Given the description of an element on the screen output the (x, y) to click on. 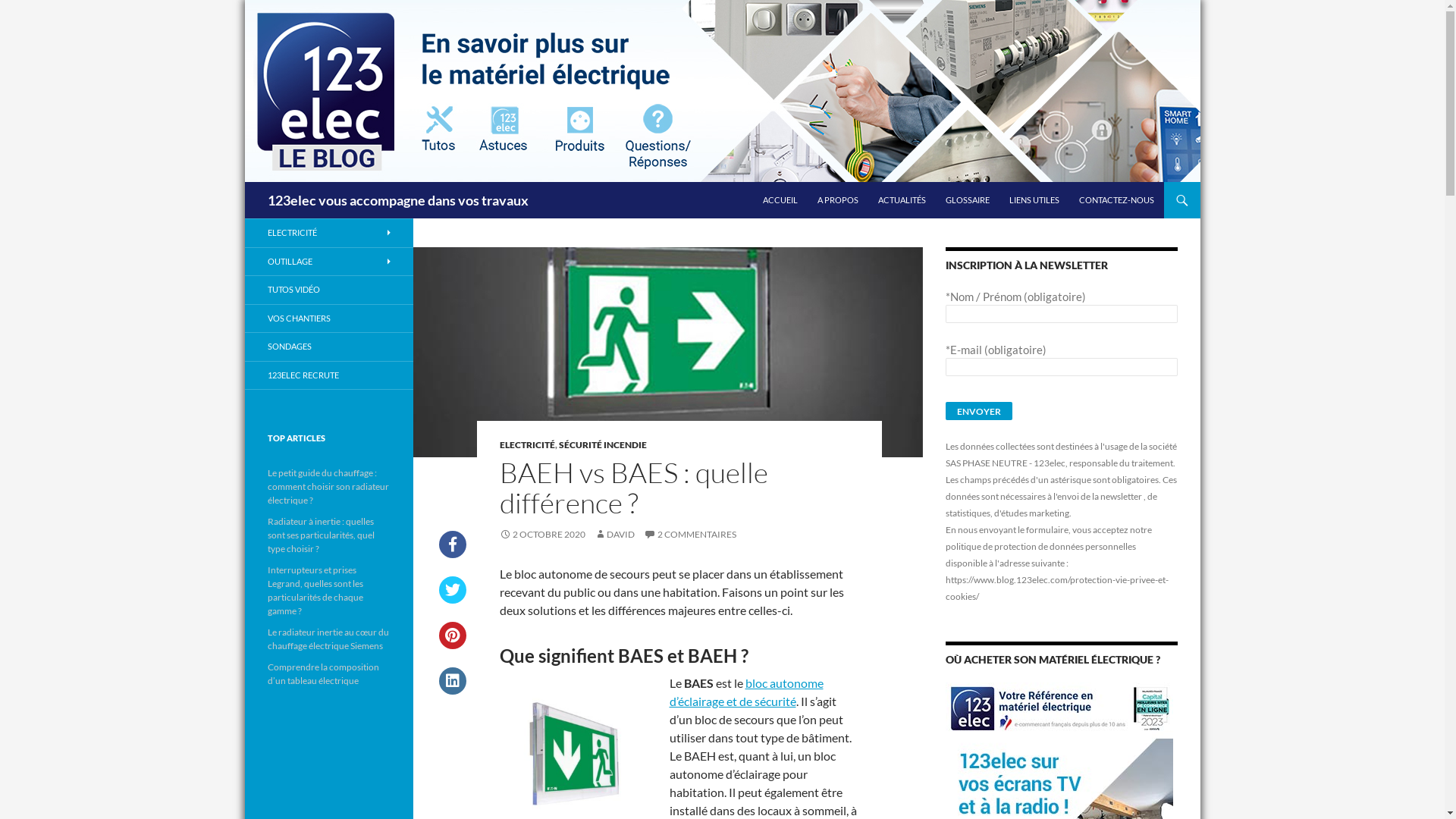
Rechercher Element type: text (41, 9)
GLOSSAIRE Element type: text (966, 200)
2 COMMENTAIRES Element type: text (689, 533)
Share on Twitter Element type: hover (451, 598)
123elec vous accompagne dans vos travaux Element type: text (396, 200)
OUTILLAGE Element type: text (328, 261)
CONTACTEZ-NOUS Element type: text (1115, 200)
SONDAGES Element type: text (328, 346)
DAVID Element type: text (614, 533)
123ELEC RECRUTE Element type: text (328, 374)
ALLER AU CONTENU Element type: text (761, 181)
Recherche Element type: text (247, 181)
Share on LinkedIn Element type: hover (451, 689)
Share on Facebook Element type: hover (451, 553)
ACCUEIL Element type: text (779, 200)
A PROPOS Element type: text (837, 200)
2 OCTOBRE 2020 Element type: text (541, 533)
Share on Pinterest Element type: hover (451, 644)
LIENS UTILES Element type: text (1033, 200)
Envoyer Element type: text (977, 410)
VOS CHANTIERS Element type: text (328, 318)
